Given the description of an element on the screen output the (x, y) to click on. 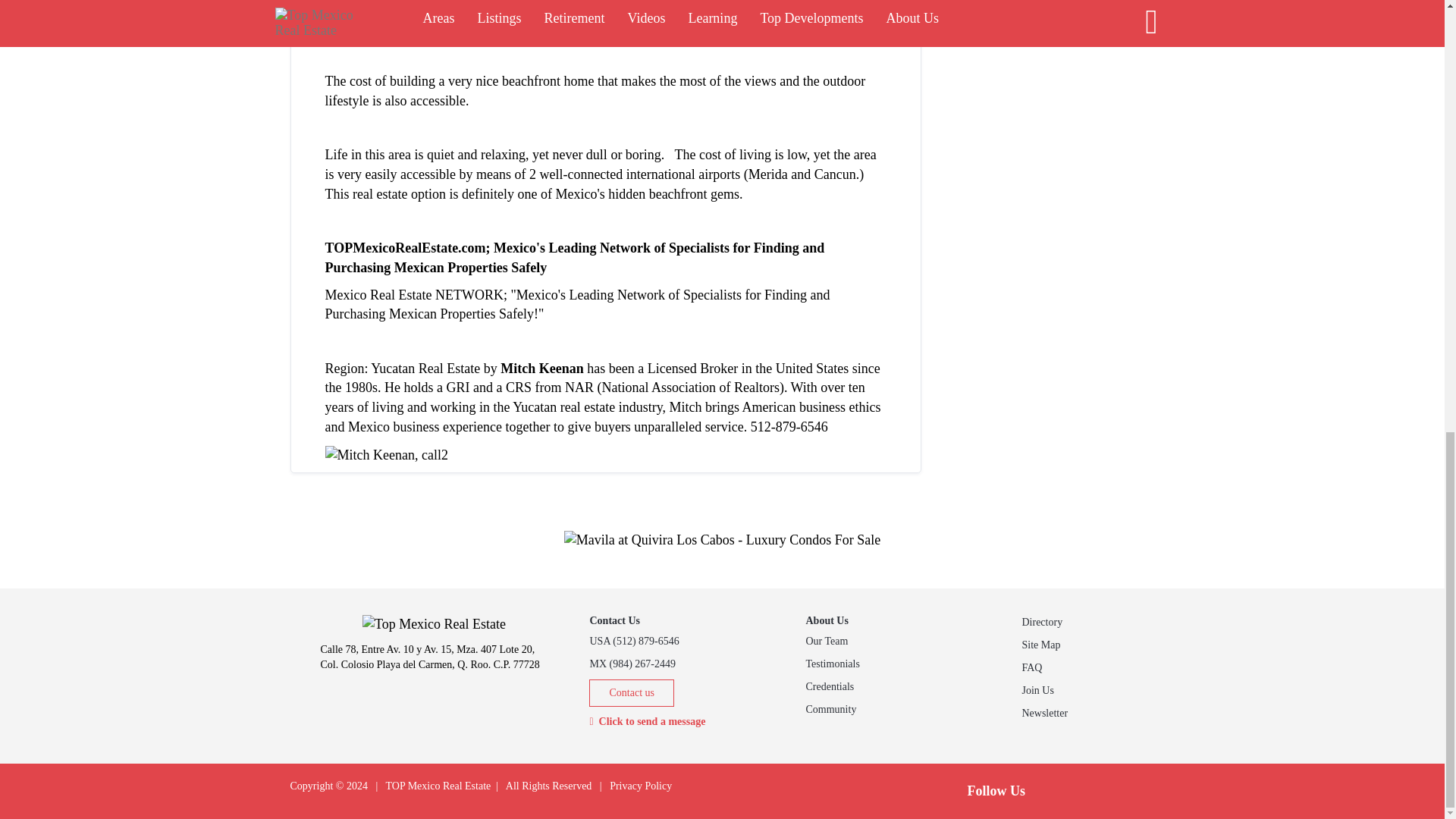
Contact a Mexico Top Broker (385, 453)
